Given the description of an element on the screen output the (x, y) to click on. 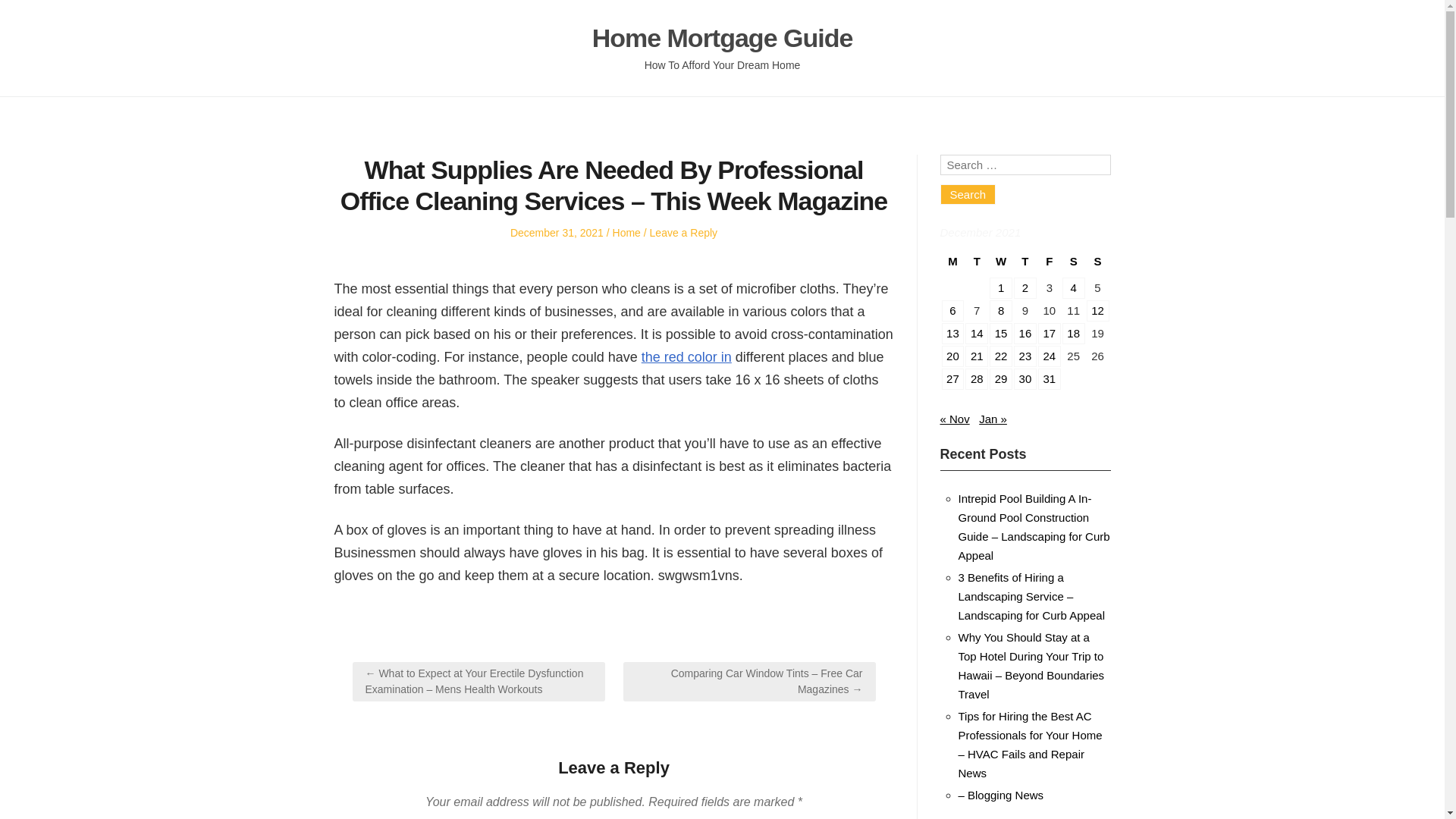
14 (976, 332)
12 (1097, 310)
6 (952, 310)
15 (1000, 332)
24 (1049, 355)
Monday (951, 263)
13 (952, 332)
23 (1024, 355)
Search (967, 194)
21 (976, 355)
22 (1000, 355)
Friday (1048, 263)
30 (1024, 378)
Home Mortgage Guide (722, 38)
1 (1000, 287)
